Given the description of an element on the screen output the (x, y) to click on. 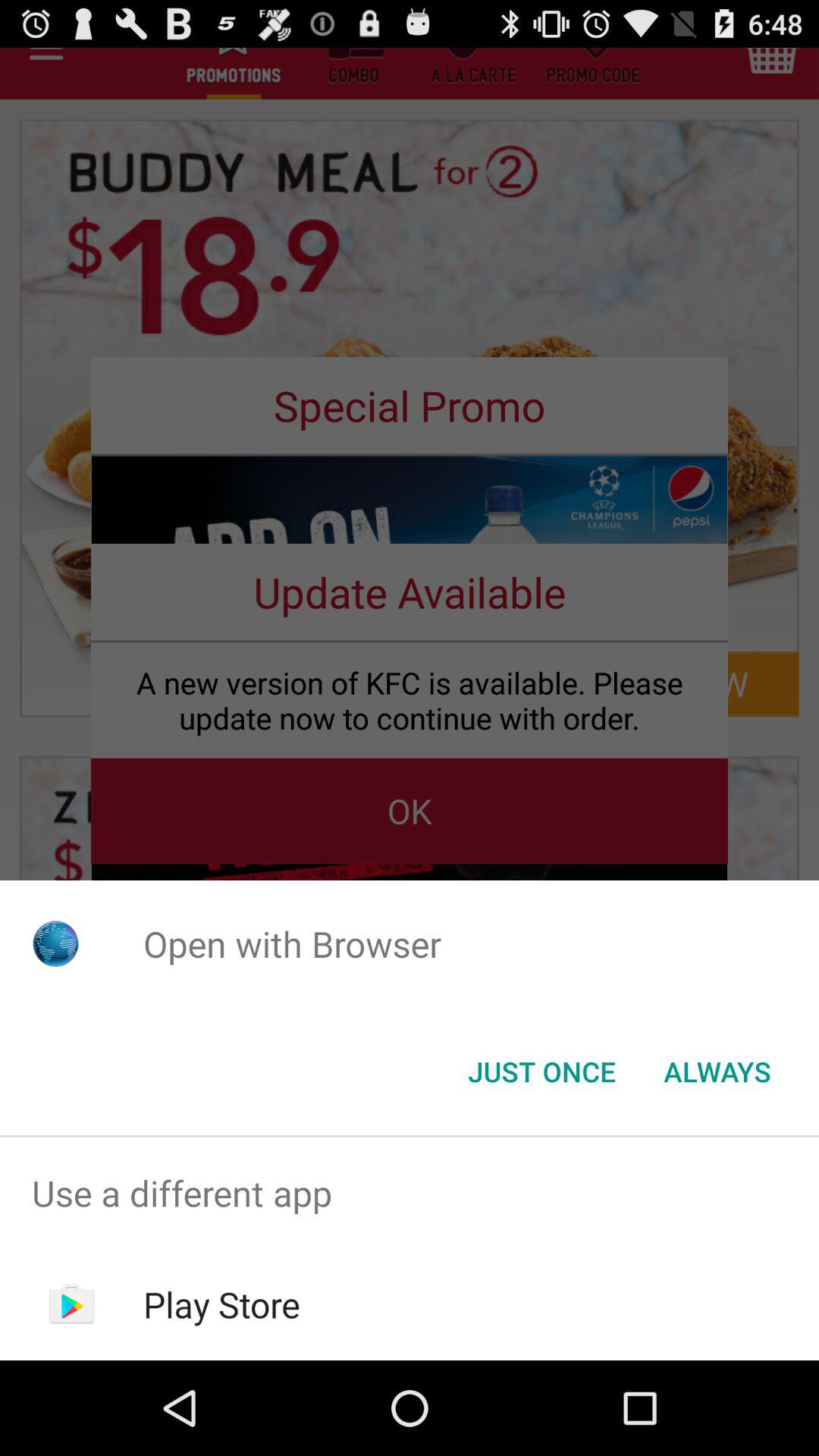
tap the play store item (221, 1304)
